Given the description of an element on the screen output the (x, y) to click on. 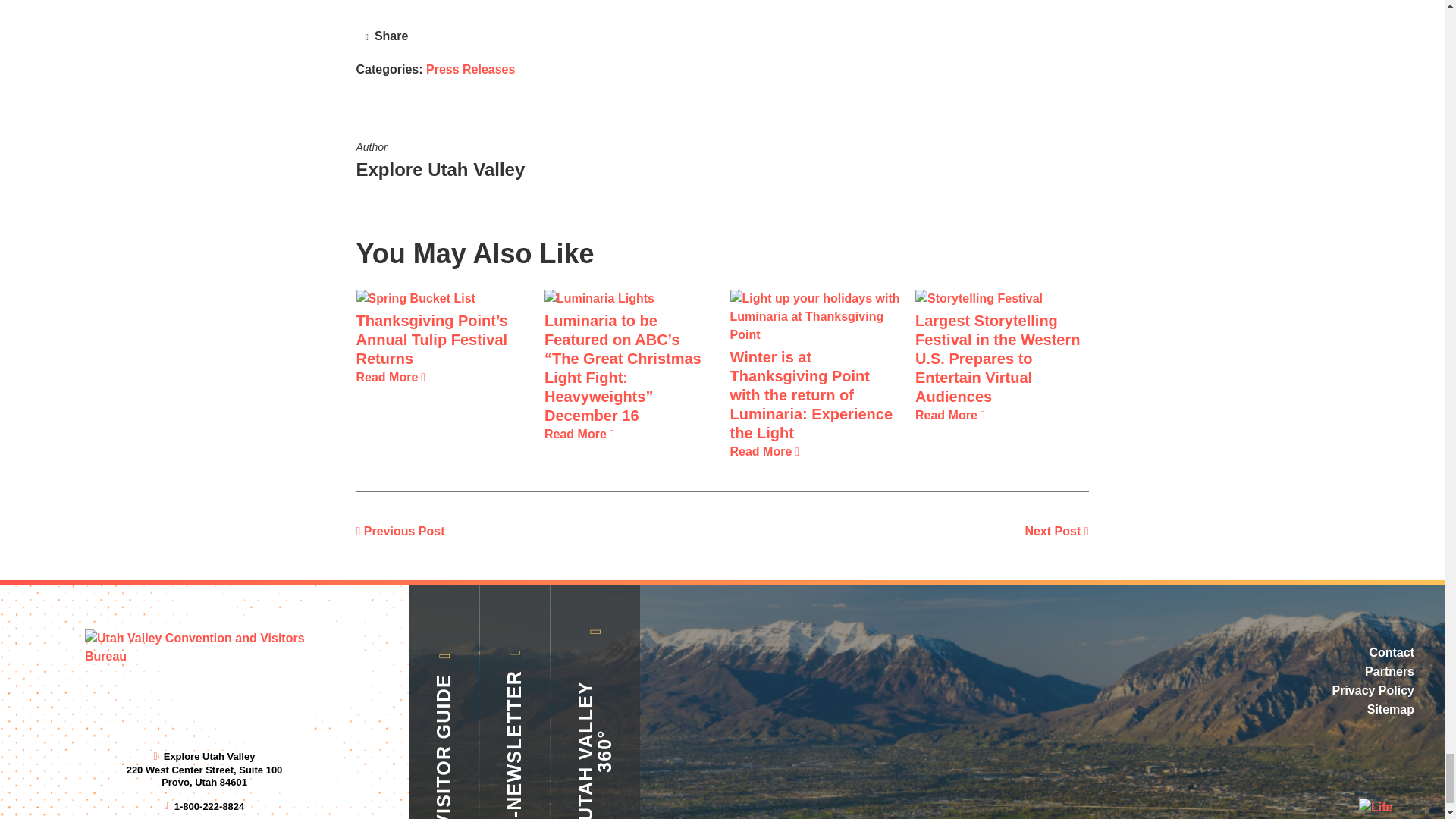
HALE CENTER THEATER OREM TO PRODUCE SEUSSICAL JR (1056, 531)
